Given the description of an element on the screen output the (x, y) to click on. 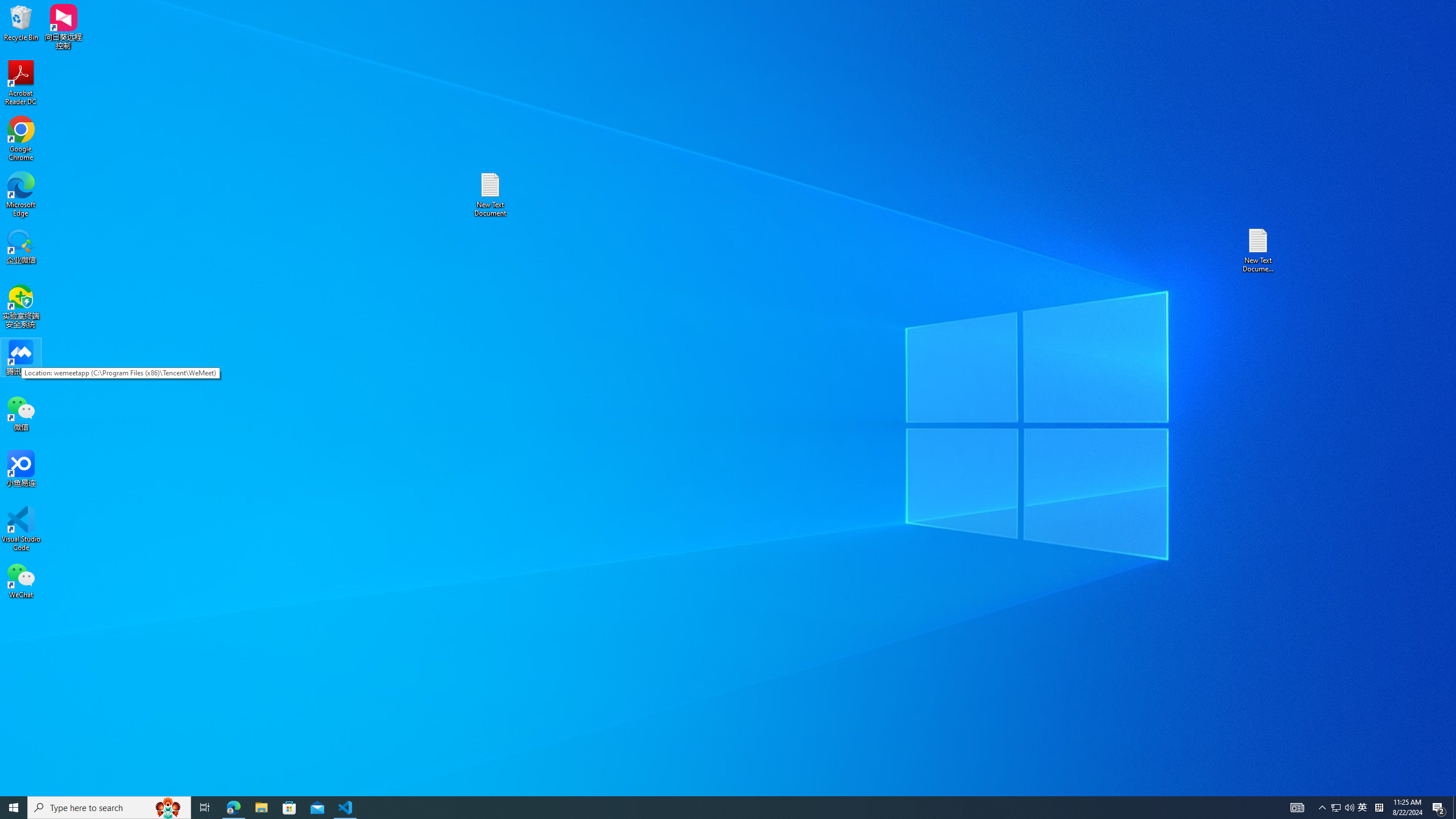
File Explorer (261, 807)
Task View (204, 807)
Start (13, 807)
Tray Input Indicator - Chinese (Simplified, China) (1378, 807)
Show desktop (1454, 807)
Acrobat Reader DC (1335, 807)
Microsoft Store (21, 82)
Action Center, 2 new notifications (289, 807)
New Text Document (2) (1439, 807)
Notification Chevron (1258, 250)
Type here to search (1322, 807)
